Given the description of an element on the screen output the (x, y) to click on. 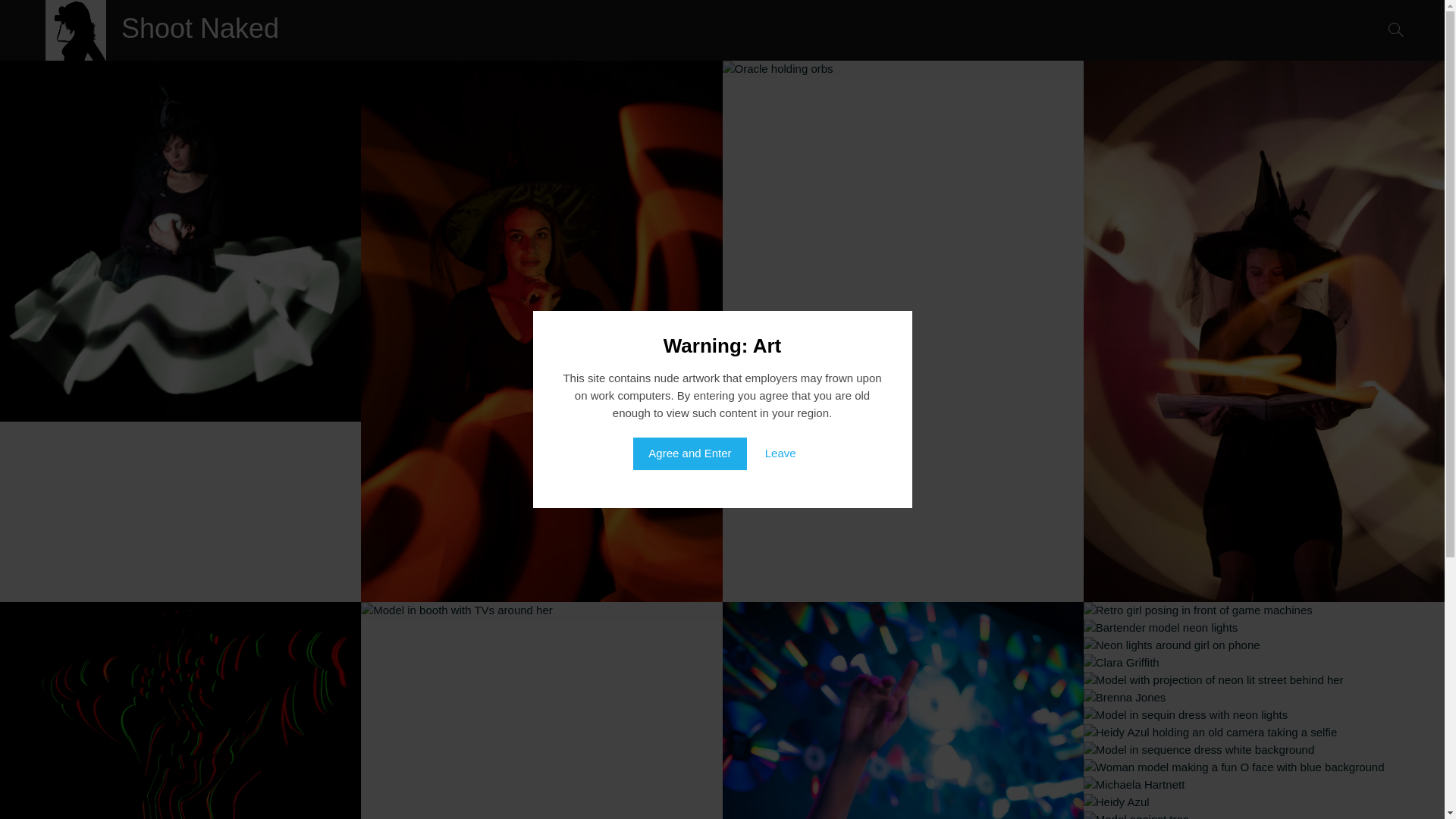
Shoot Naked (207, 28)
Leave (779, 453)
Agree and Enter (689, 453)
Shoot Naked (207, 28)
